Given the description of an element on the screen output the (x, y) to click on. 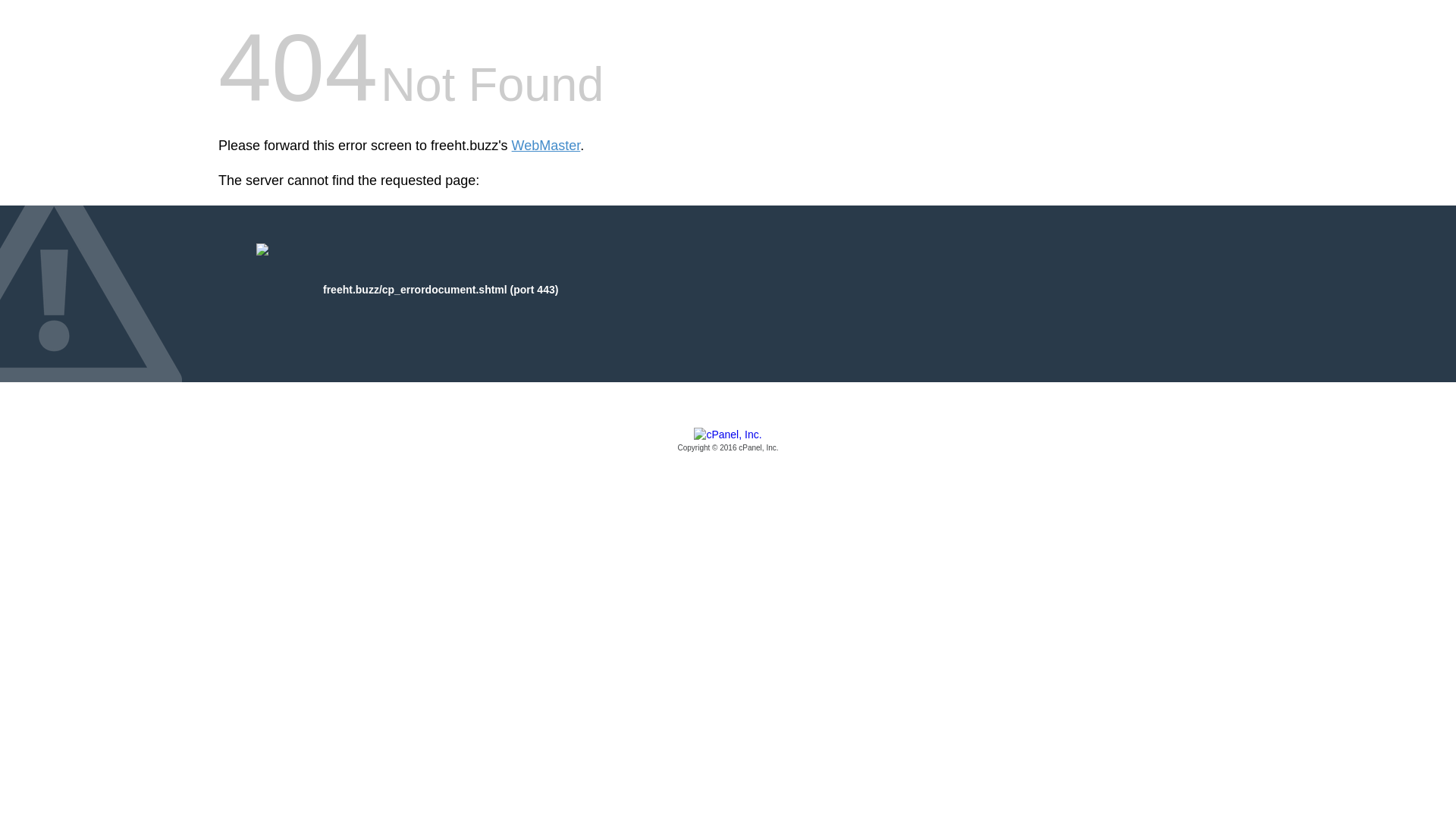
WebMaster (546, 145)
cPanel, Inc. (727, 440)
